Given the description of an element on the screen output the (x, y) to click on. 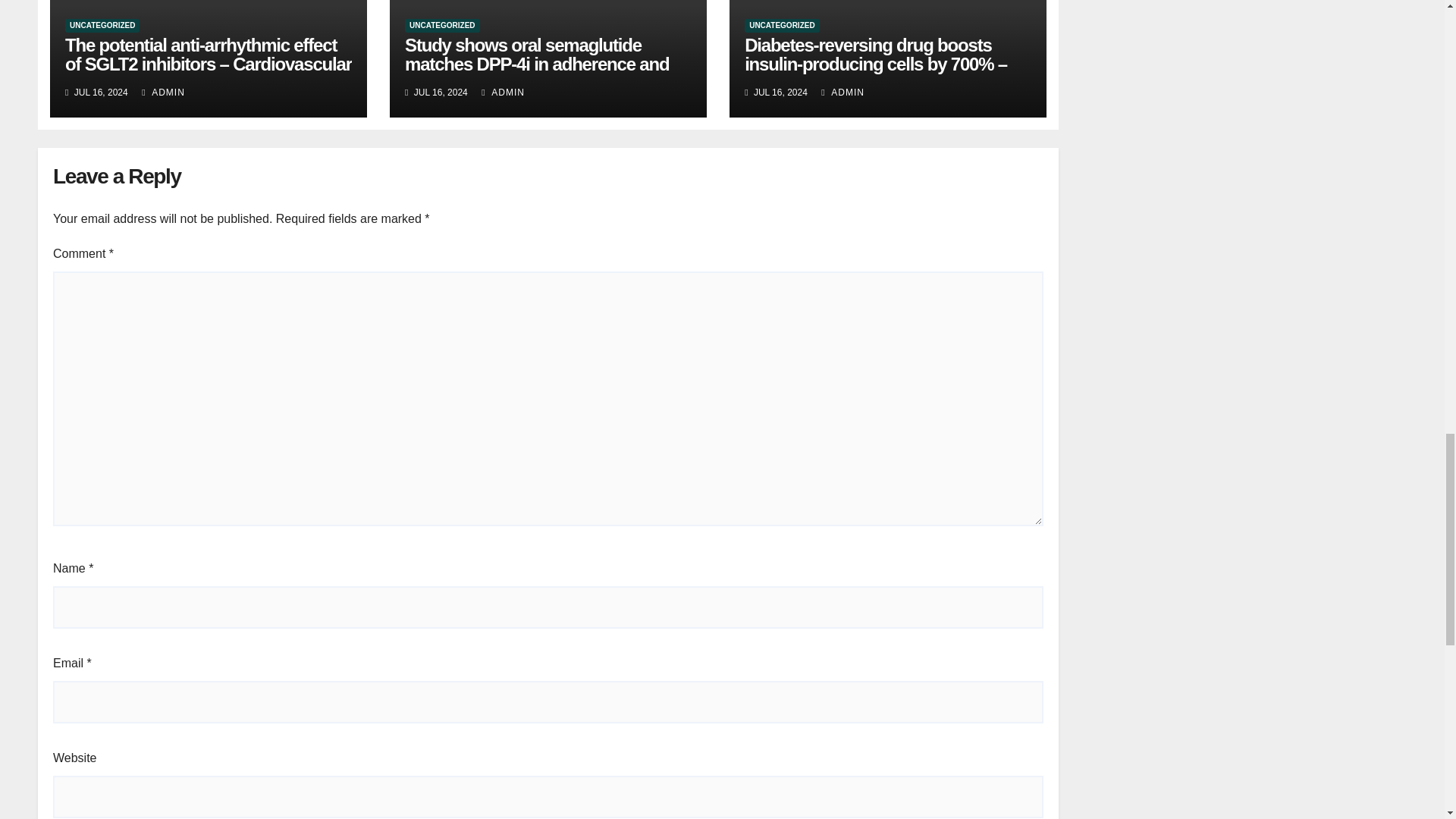
UNCATEGORIZED (781, 25)
UNCATEGORIZED (441, 25)
ADMIN (162, 91)
UNCATEGORIZED (102, 25)
ADMIN (502, 91)
